Given the description of an element on the screen output the (x, y) to click on. 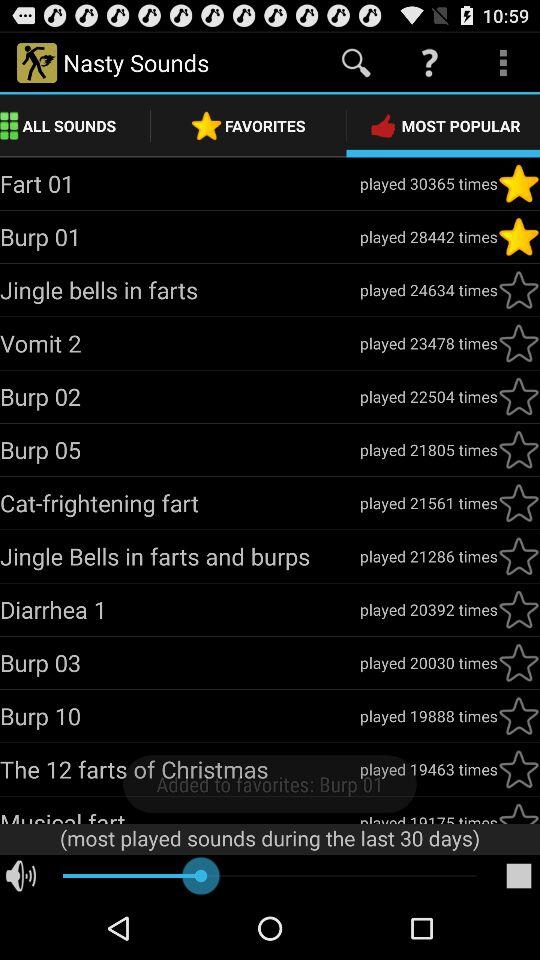
mark as favorite (519, 716)
